Given the description of an element on the screen output the (x, y) to click on. 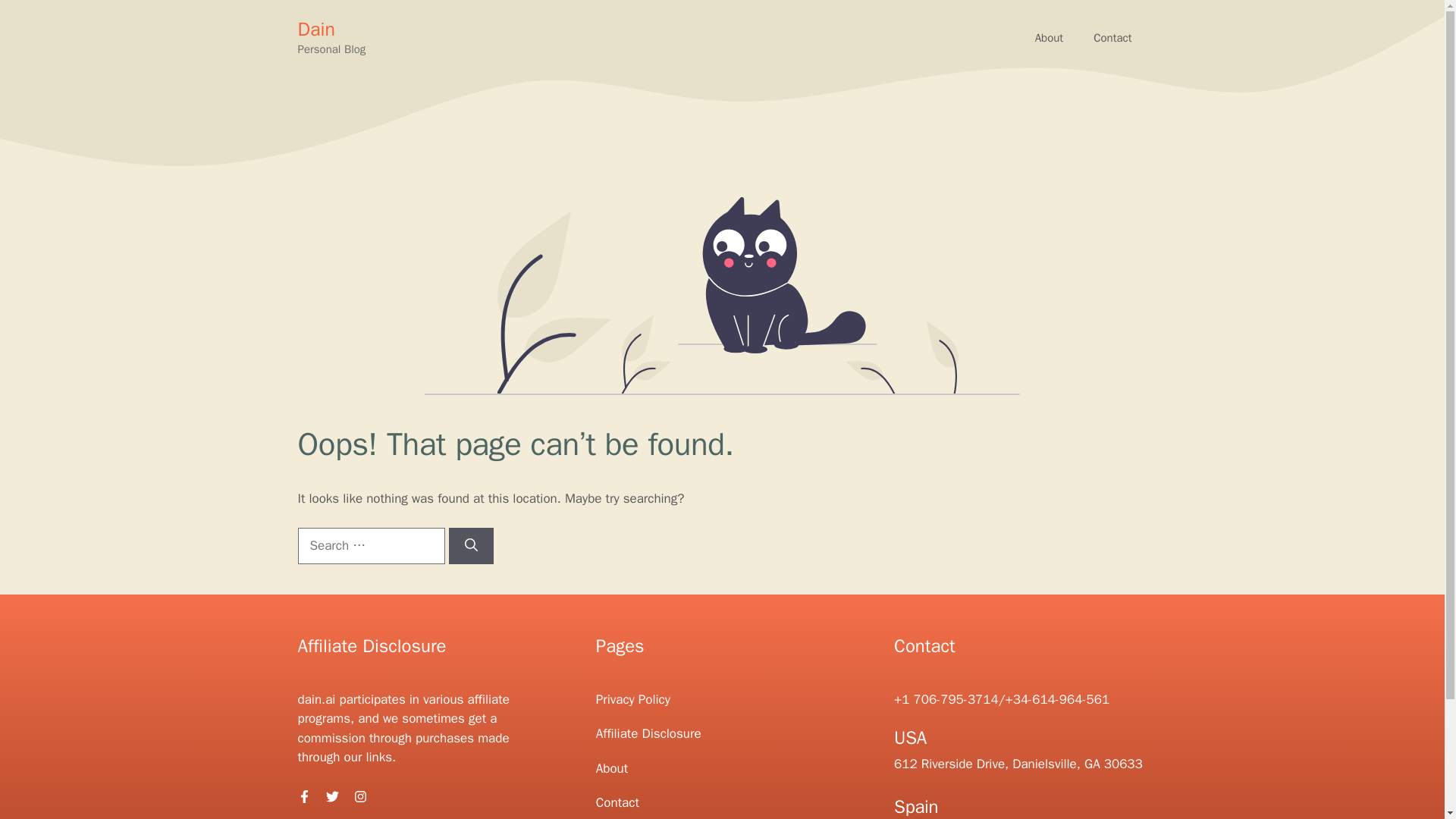
Contact (1112, 37)
Privacy Policy (632, 699)
Contact (1112, 37)
About (1049, 37)
Affiliate Disclosure (648, 733)
About (1049, 37)
Dain (315, 28)
Search for: (370, 545)
About (611, 768)
Contact (617, 802)
